Given the description of an element on the screen output the (x, y) to click on. 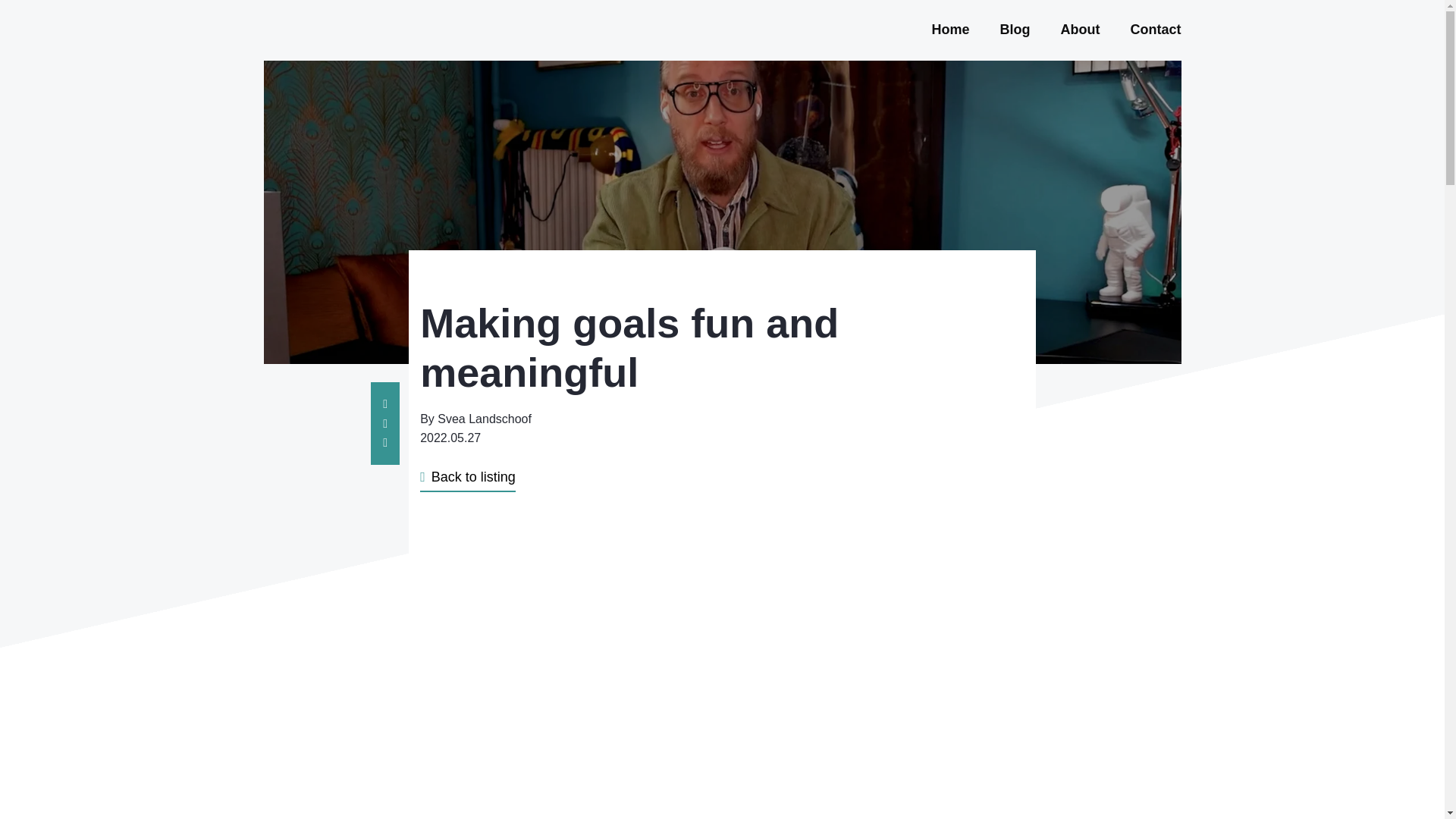
Back to listing (467, 480)
About (1080, 29)
Contact (1154, 29)
Home (950, 29)
Svea Landschoof (484, 418)
Blog (1015, 29)
